Given the description of an element on the screen output the (x, y) to click on. 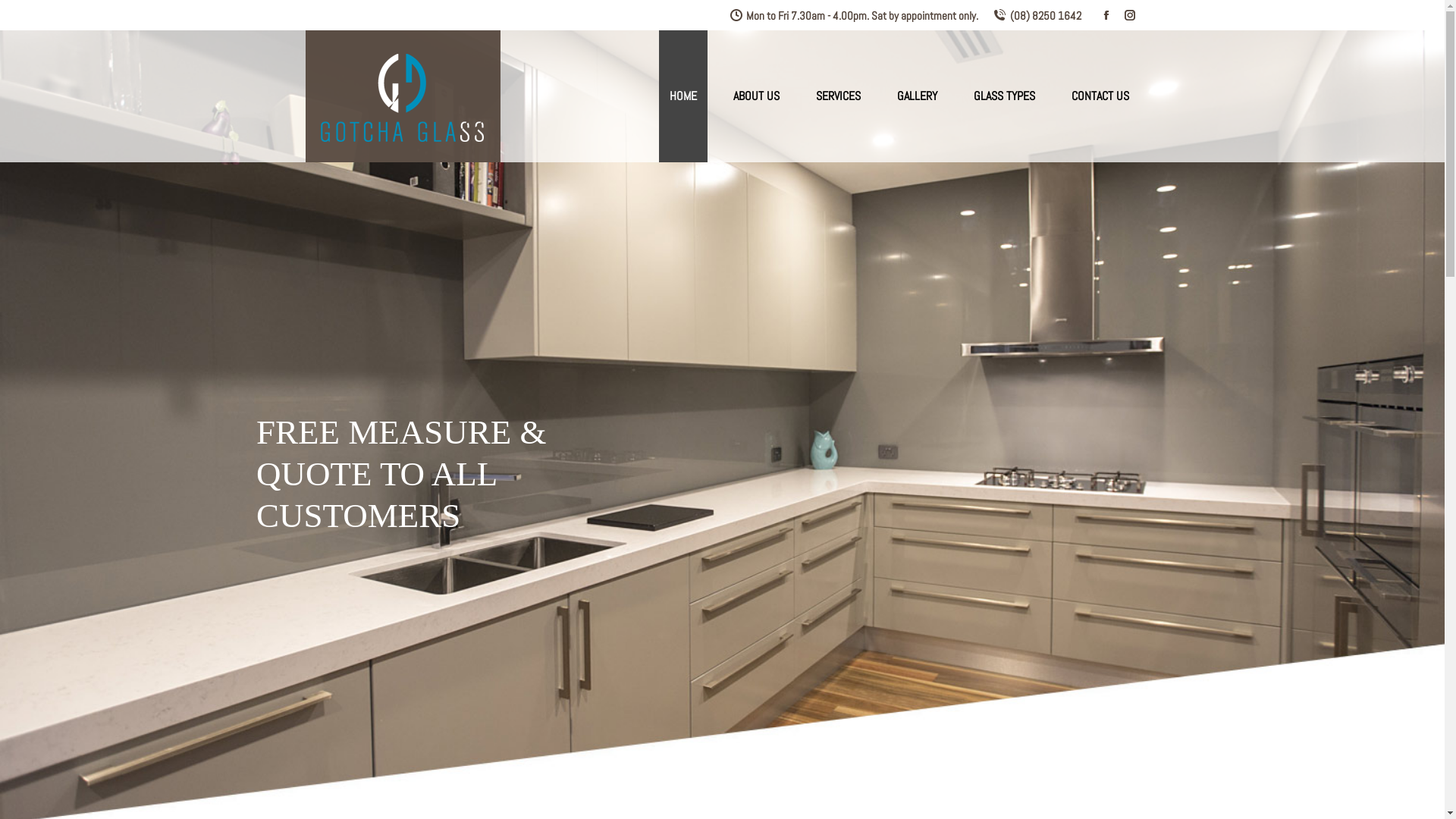
CONTACT US Element type: text (1099, 96)
HOME Element type: text (682, 96)
Instagram page opens in new window Element type: text (1129, 15)
GLASS TYPES Element type: text (1004, 96)
GALLERY Element type: text (916, 96)
SERVICES Element type: text (838, 96)
Facebook page opens in new window Element type: text (1106, 15)
(08) 8250 1642 Element type: text (1036, 15)
ABOUT US Element type: text (755, 96)
